Given the description of an element on the screen output the (x, y) to click on. 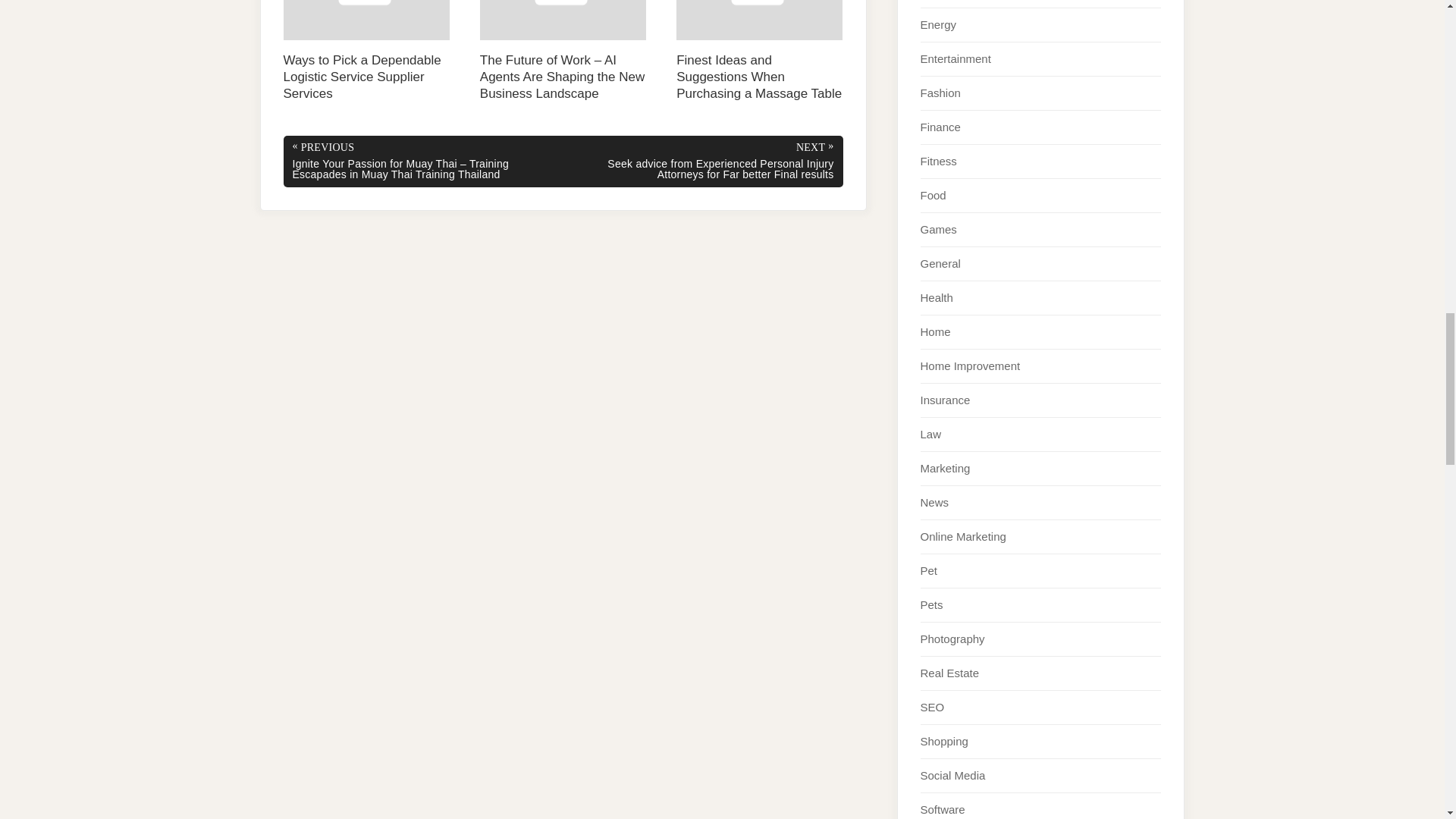
Finest Ideas and Suggestions When Purchasing a Massage Table (760, 51)
Ways to Pick a Dependable Logistic Service Supplier Services (366, 51)
Food (933, 195)
Entertainment (955, 58)
Finance (940, 126)
Fitness (938, 160)
Games (938, 228)
Energy (938, 24)
Fashion (940, 92)
Ways to Pick a Dependable Logistic Service Supplier Services (366, 51)
Finest Ideas and Suggestions When Purchasing a Massage Table (760, 51)
